Given the description of an element on the screen output the (x, y) to click on. 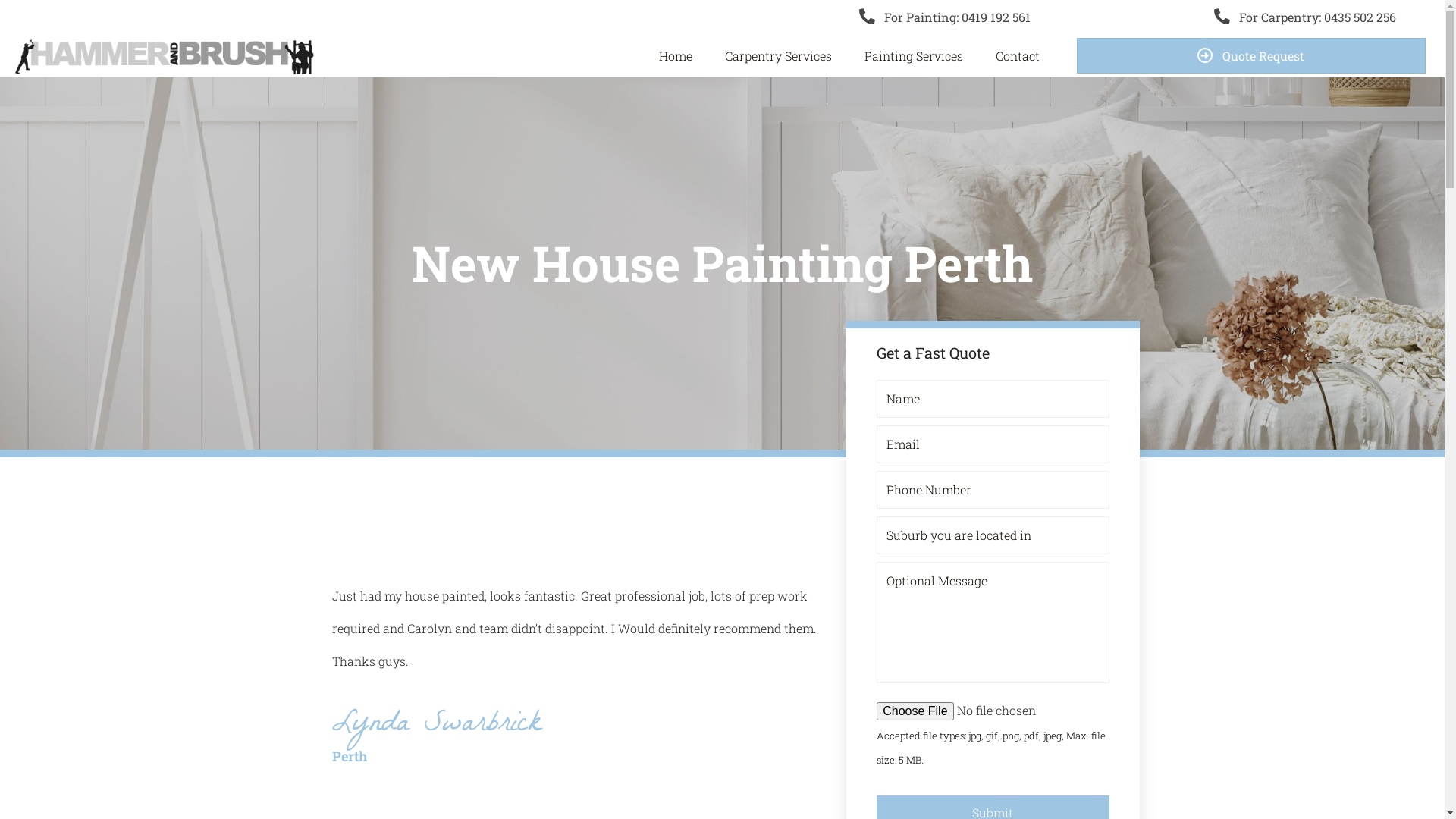
Quote Request Element type: text (1250, 55)
Home Element type: text (680, 55)
Contact Element type: text (1017, 55)
Painting Services Element type: text (918, 55)
For Painting: 0419 192 561 Element type: text (696, 17)
For Carpentry: 0435 502 256 Element type: text (1246, 17)
Carpentry Services Element type: text (783, 55)
hammer-and-brush-logo Element type: hover (166, 55)
